Given the description of an element on the screen output the (x, y) to click on. 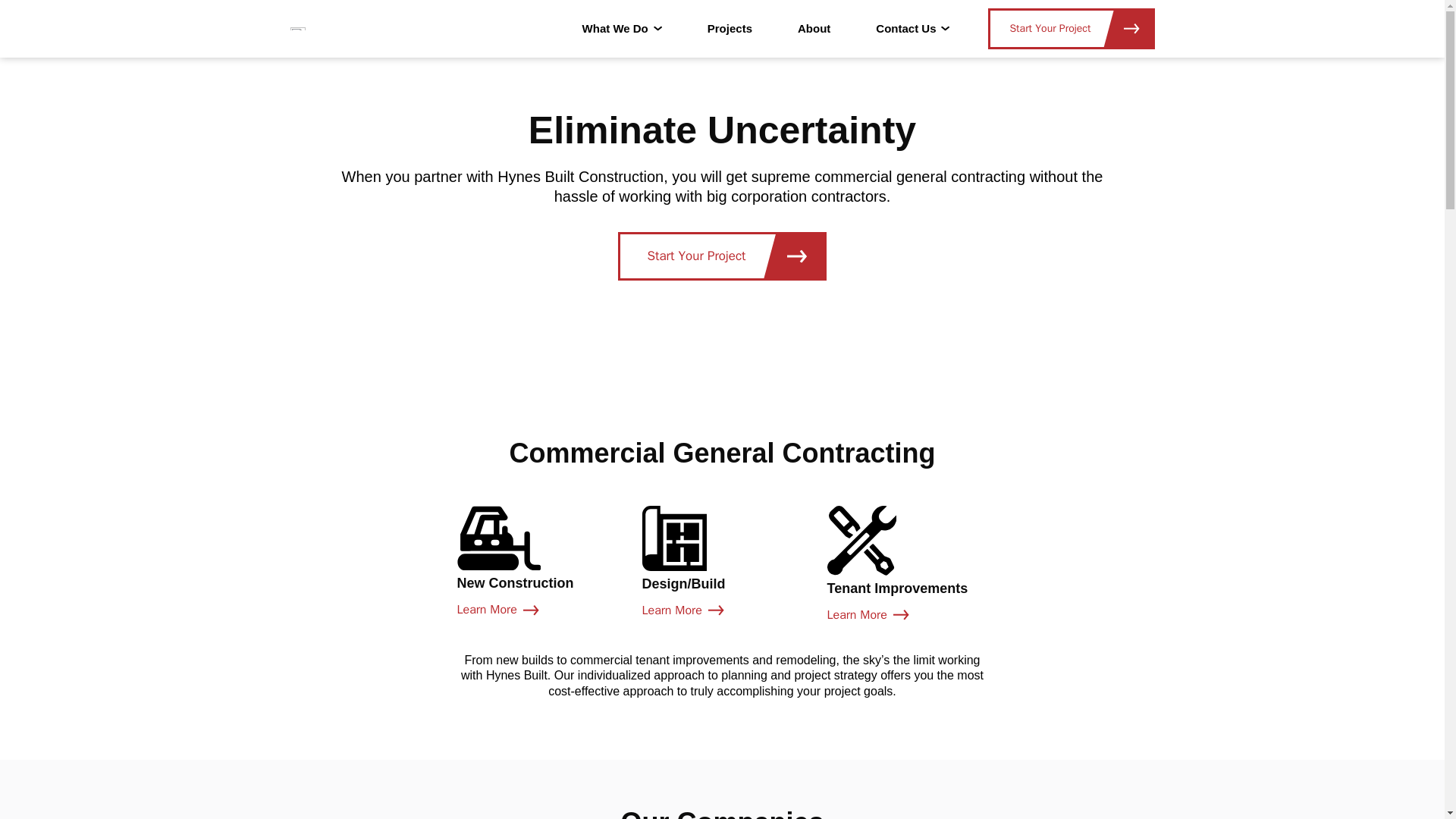
Projects (730, 28)
Start Your Project (1070, 28)
Contact Us (911, 28)
Skip to main content (907, 564)
What We Do (722, 255)
About (537, 562)
